Given the description of an element on the screen output the (x, y) to click on. 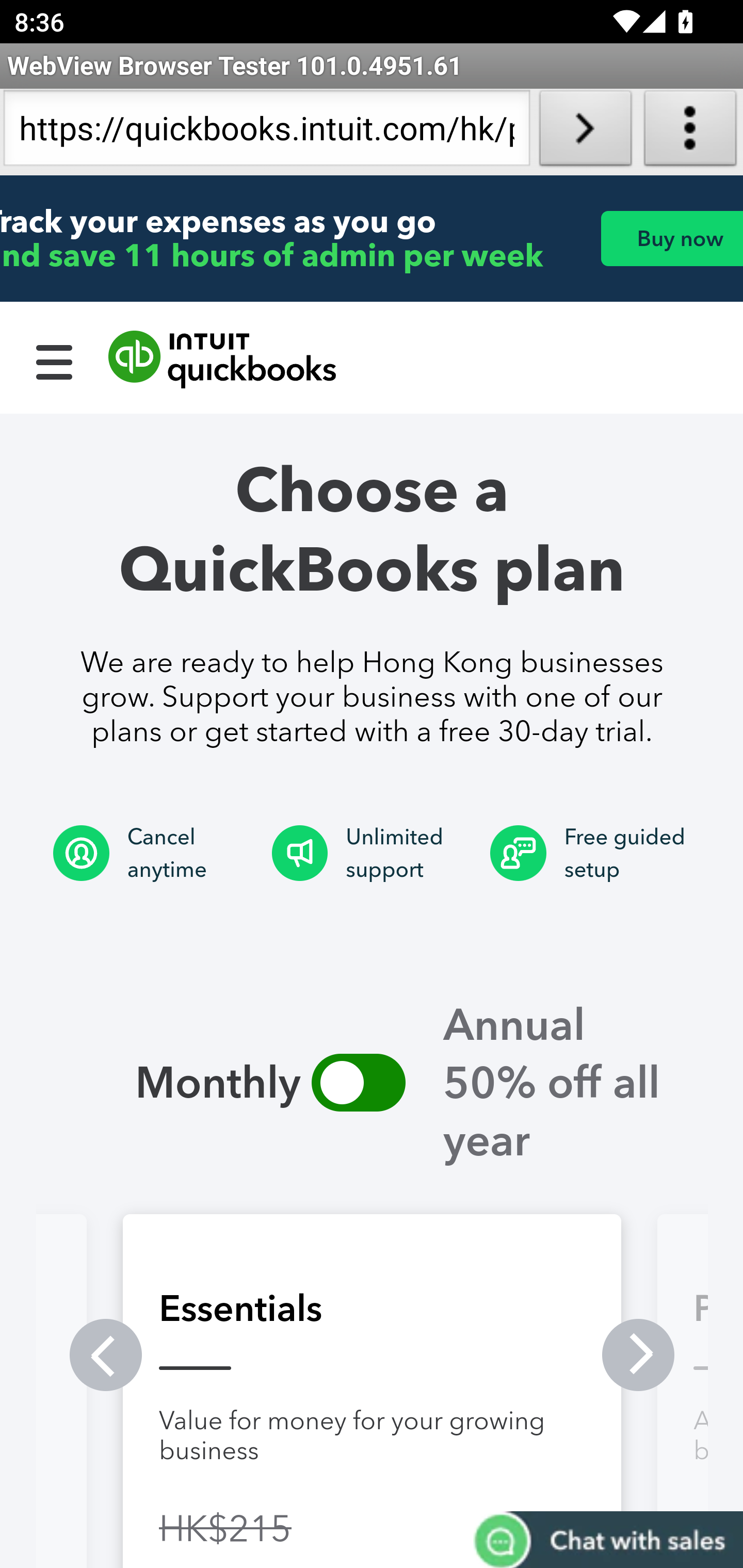
https://quickbooks.intuit.com/hk/pricing/ (266, 132)
Load URL (585, 132)
About WebView (690, 132)
Buy now (671, 238)
quickbooks-mobile-burger (54, 359)
quickbooks (222, 359)
Annual 50% off all year (570, 1081)
Monthly (174, 1082)
Monthly  (358, 1081)
